Given the description of an element on the screen output the (x, y) to click on. 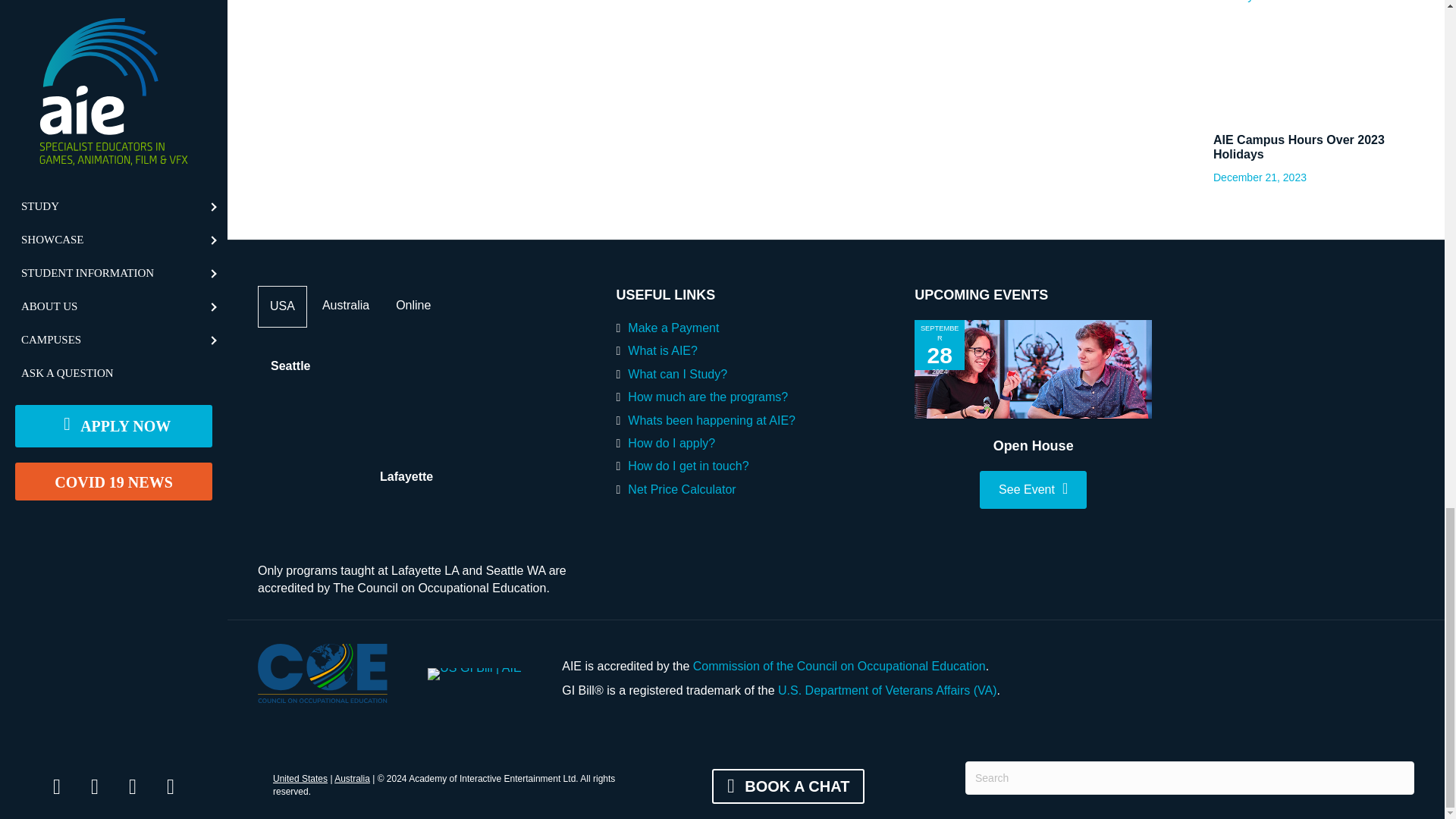
Type and press Enter to search. (1189, 777)
us-gi-bill-02 (474, 674)
Open House (1032, 369)
Counci-logo-SVG (322, 673)
Open House (1033, 445)
